Given the description of an element on the screen output the (x, y) to click on. 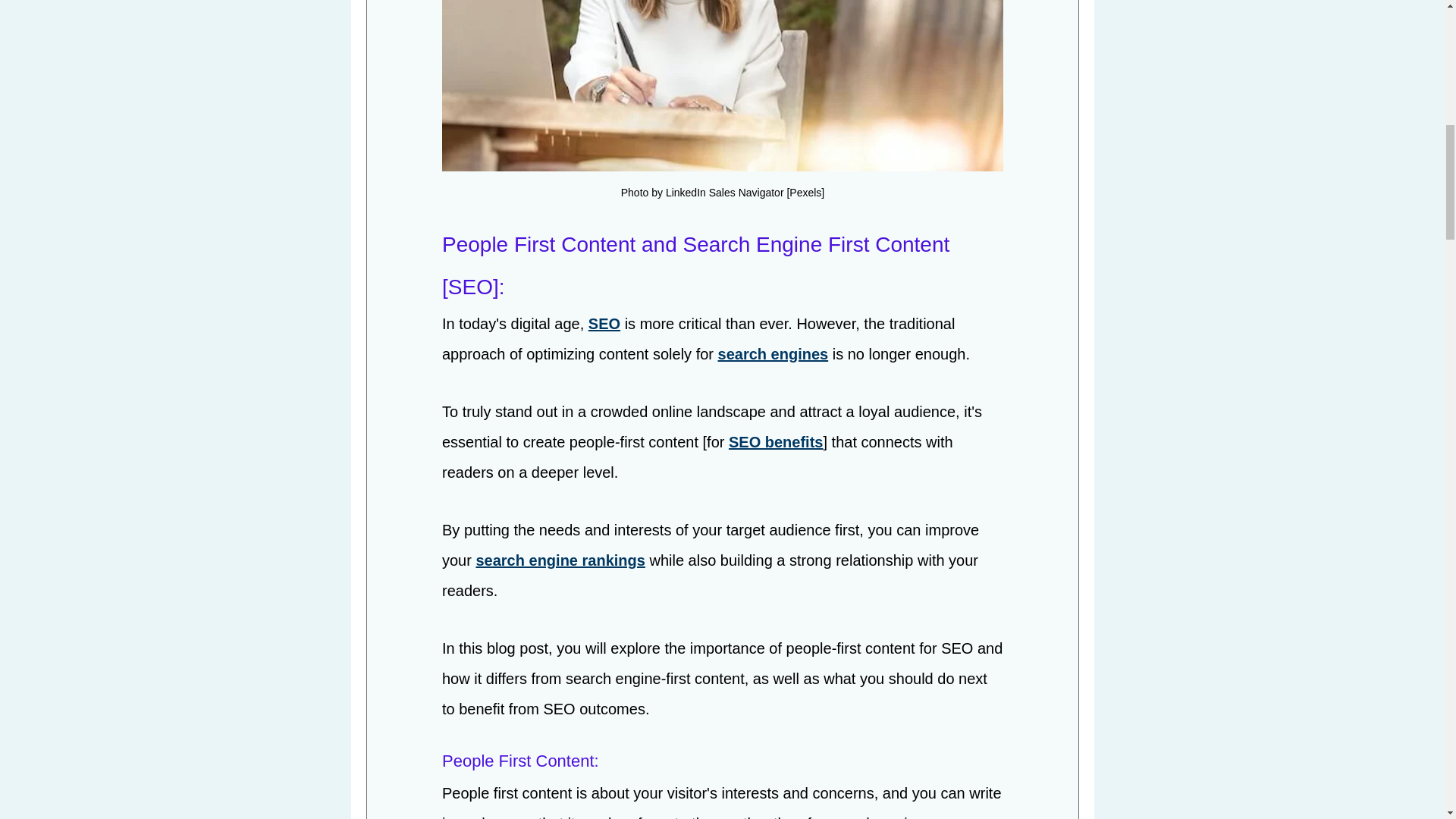
SEO (604, 324)
SEO benefits (775, 442)
search engine rankings (560, 560)
search engines (772, 354)
